Given the description of an element on the screen output the (x, y) to click on. 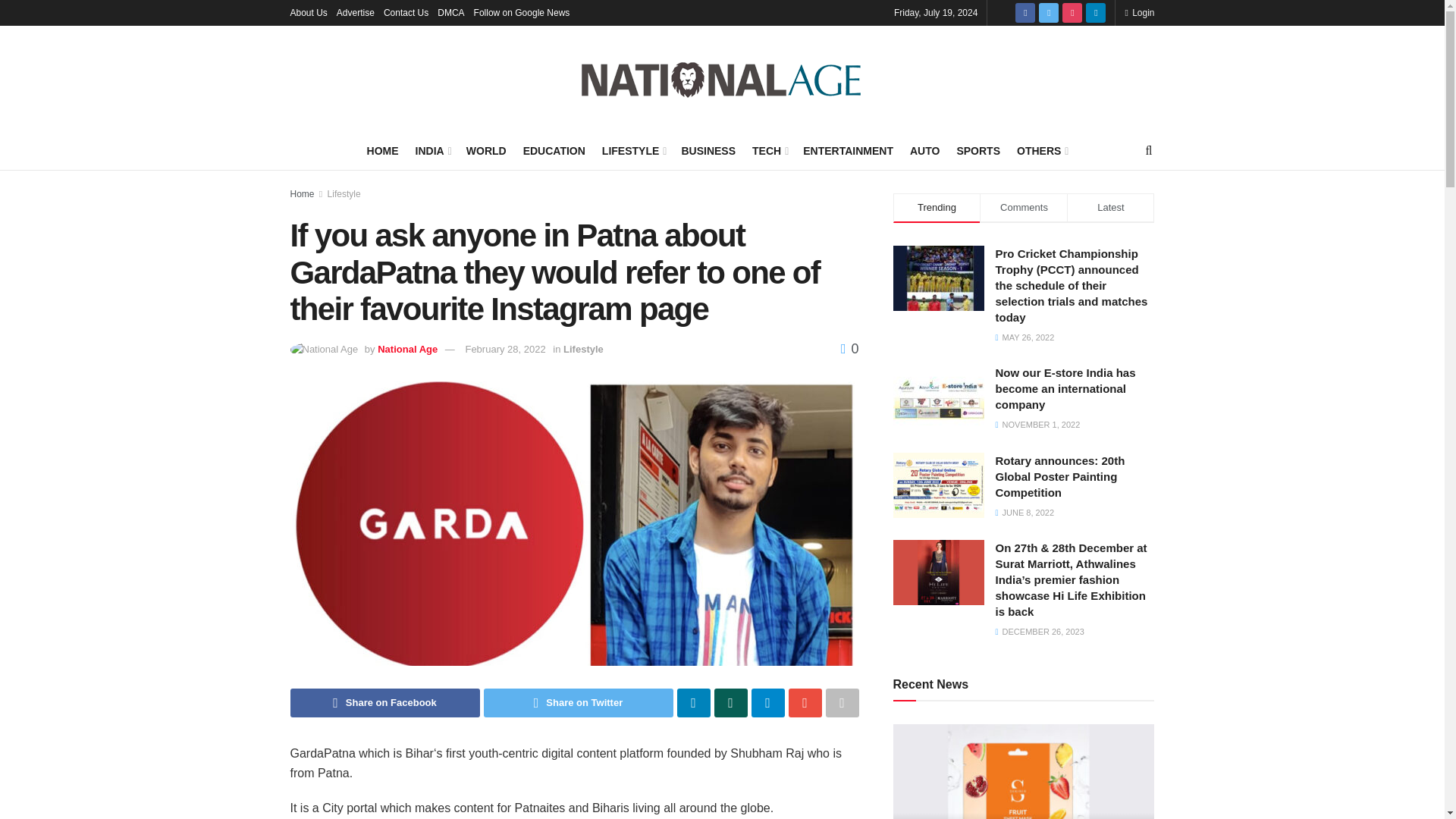
Follow on Google News (522, 12)
LIFESTYLE (633, 150)
DMCA (451, 12)
OTHERS (1040, 150)
ENTERTAINMENT (848, 150)
Advertise (355, 12)
INDIA (431, 150)
BUSINESS (708, 150)
Contact Us (406, 12)
TECH (769, 150)
EDUCATION (553, 150)
HOME (382, 150)
AUTO (924, 150)
SPORTS (978, 150)
WORLD (485, 150)
